Given the description of an element on the screen output the (x, y) to click on. 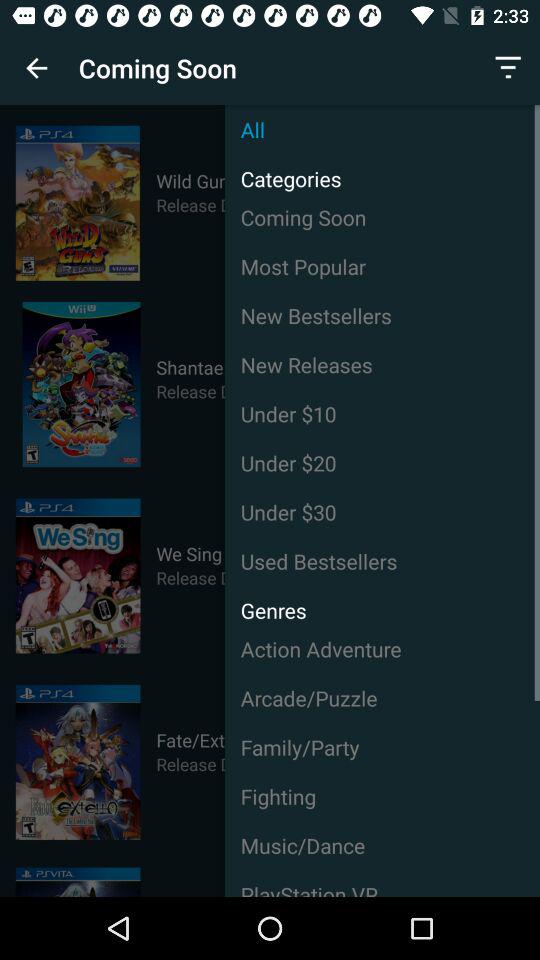
scroll until all (382, 129)
